Given the description of an element on the screen output the (x, y) to click on. 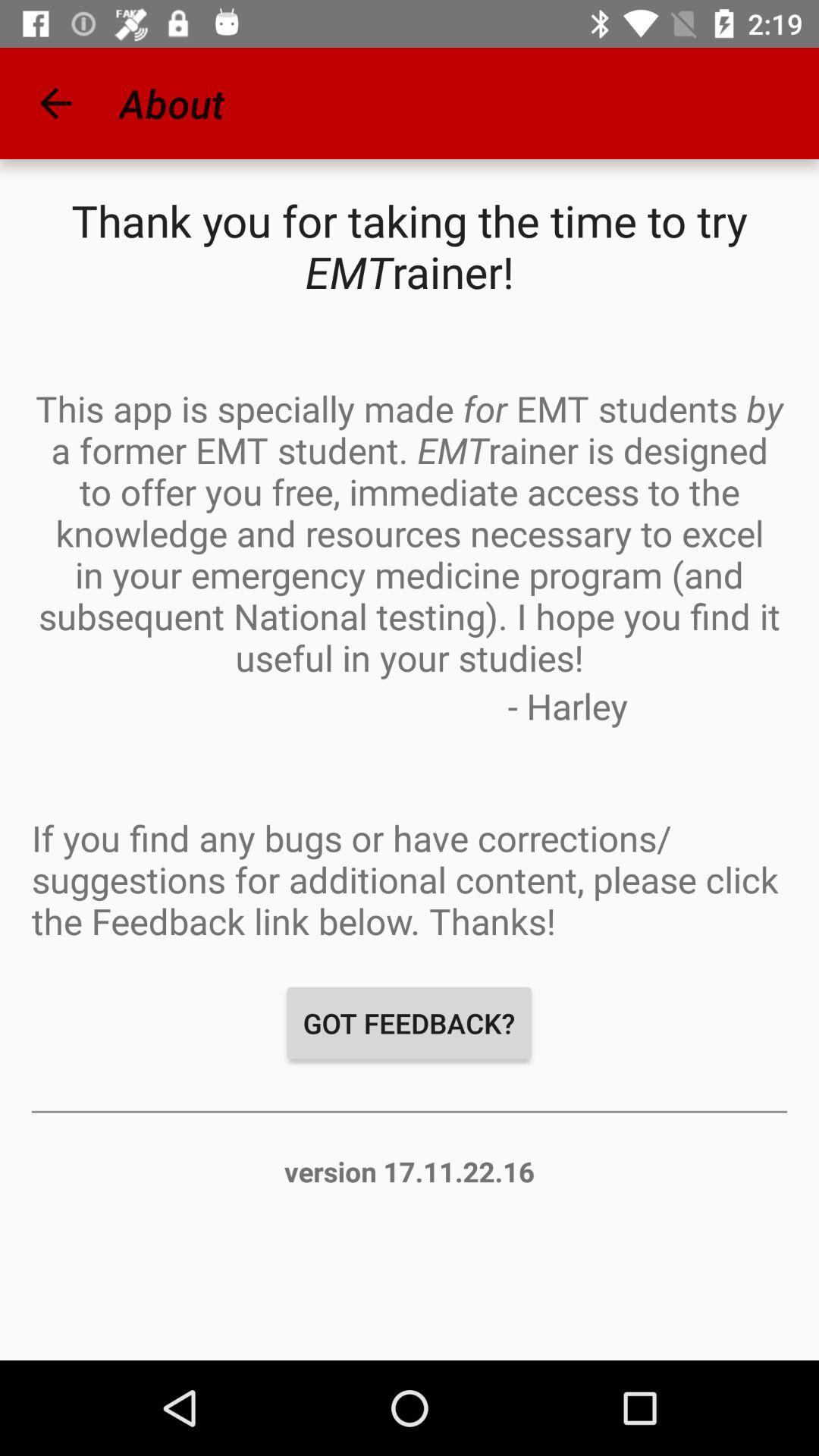
open got feedback? (409, 1022)
